Given the description of an element on the screen output the (x, y) to click on. 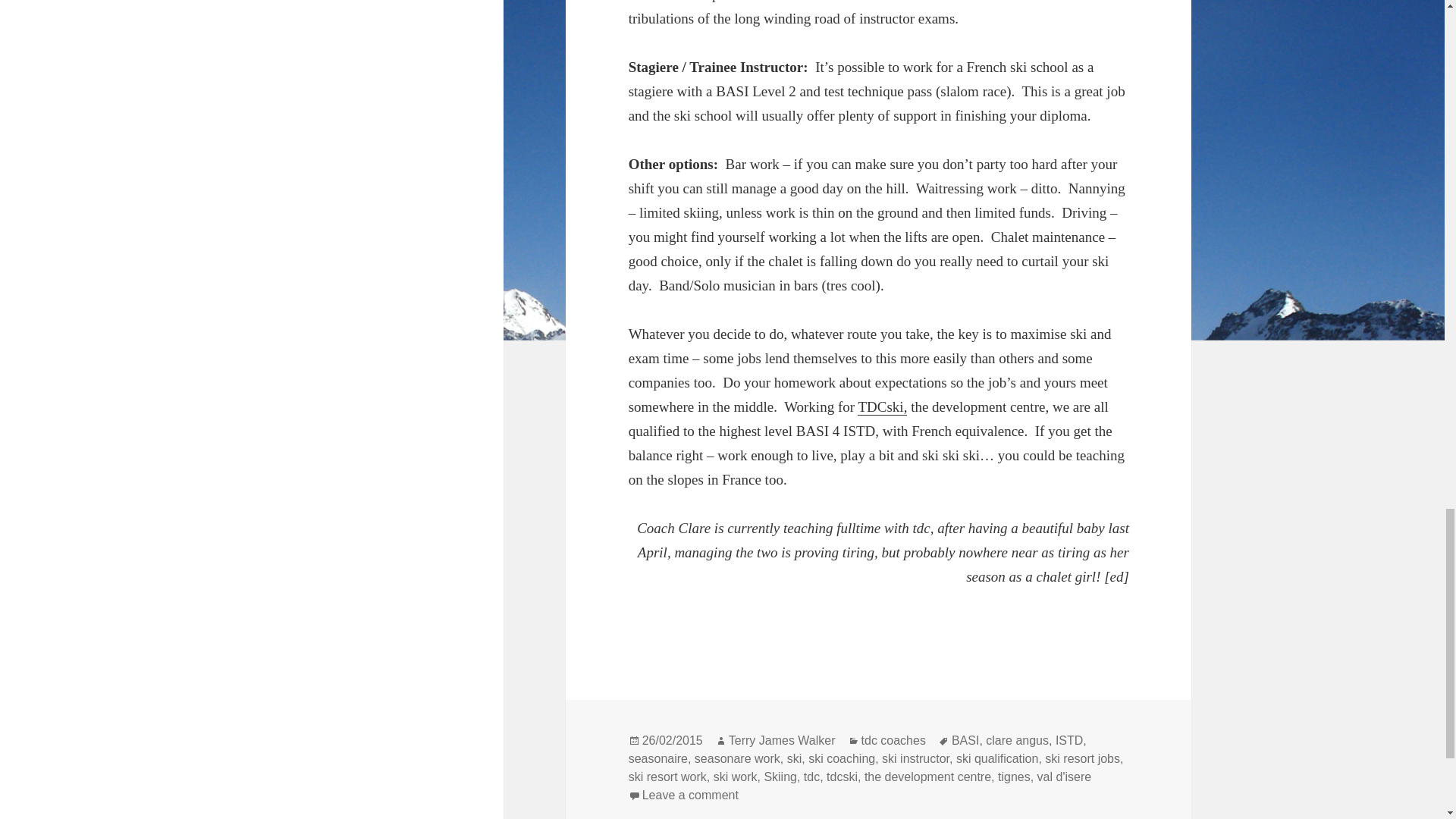
tdc coaches (893, 740)
TDCski, (882, 406)
ISTD (1069, 740)
the development centre TDC (882, 406)
clare angus (1016, 740)
seasonaire (657, 758)
Terry James Walker (782, 740)
BASI (965, 740)
